Given the description of an element on the screen output the (x, y) to click on. 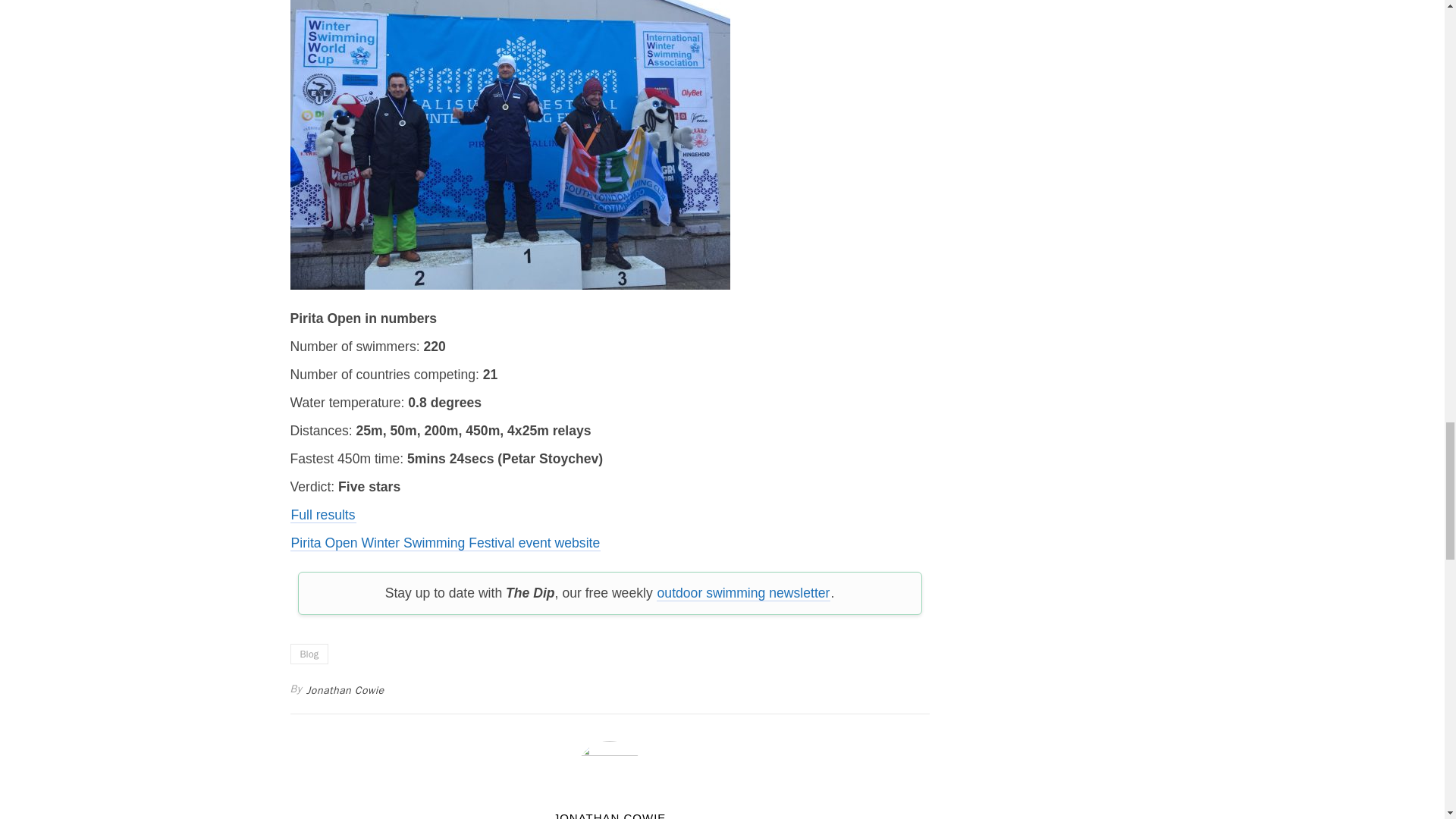
Posts by Jonathan Cowie (345, 689)
Posts by Jonathan Cowie (609, 814)
